Given the description of an element on the screen output the (x, y) to click on. 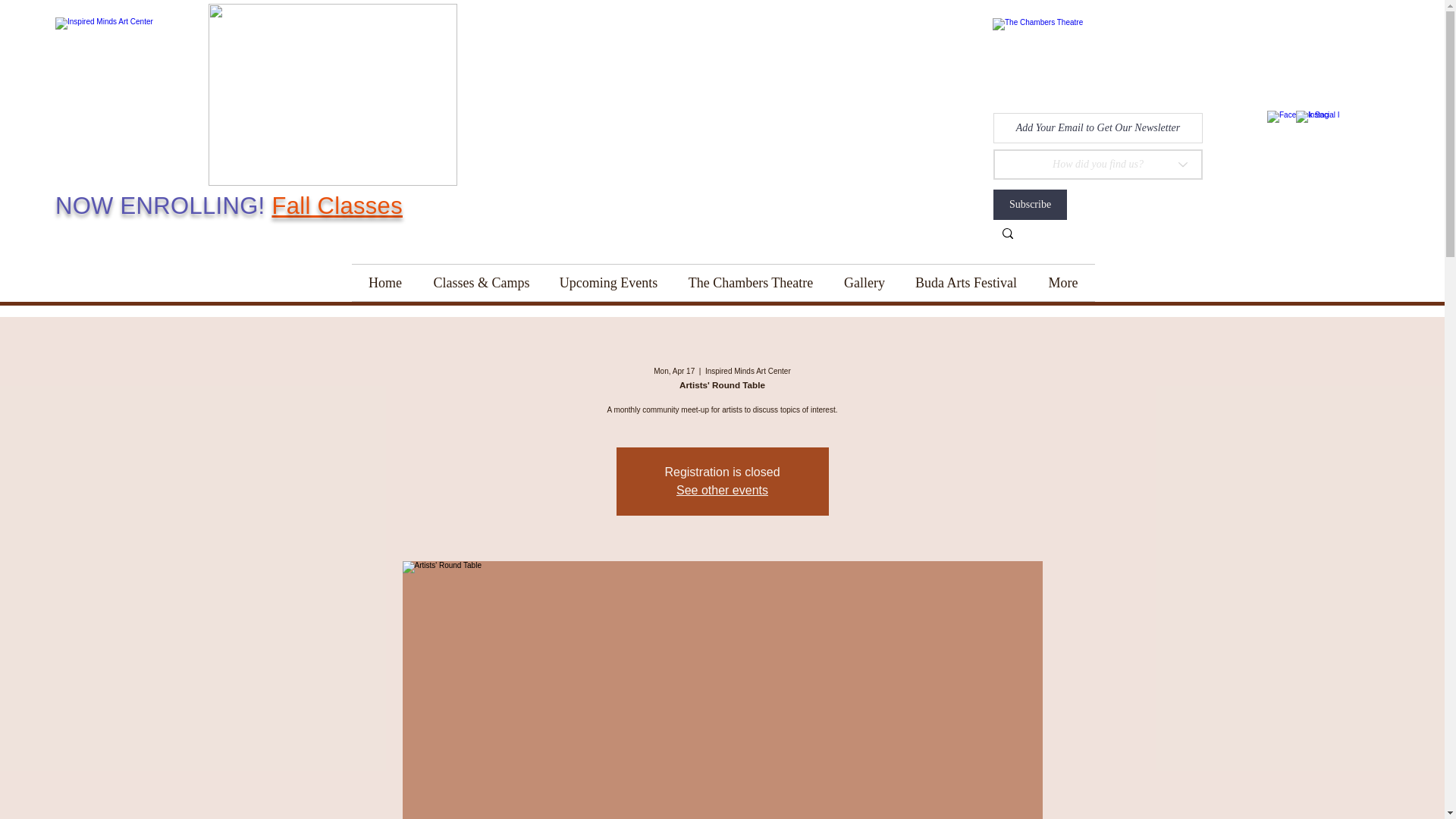
The Chambers Theatre (750, 282)
See other events (722, 490)
Subscribe (1029, 204)
Home (385, 282)
Fall Classes (336, 205)
Buda Arts Festival (966, 282)
